Given the description of an element on the screen output the (x, y) to click on. 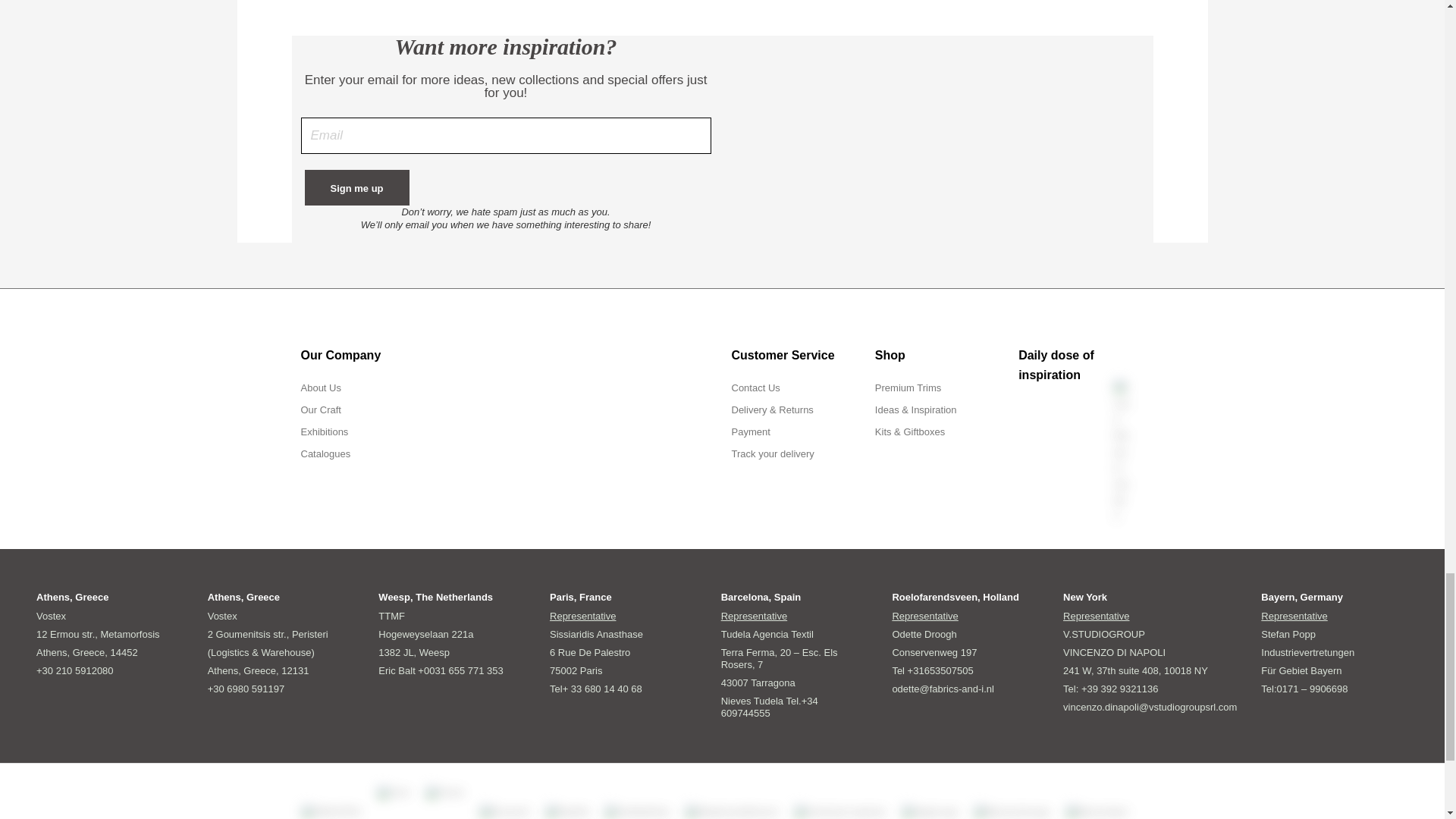
Sign me up (356, 187)
